Given the description of an element on the screen output the (x, y) to click on. 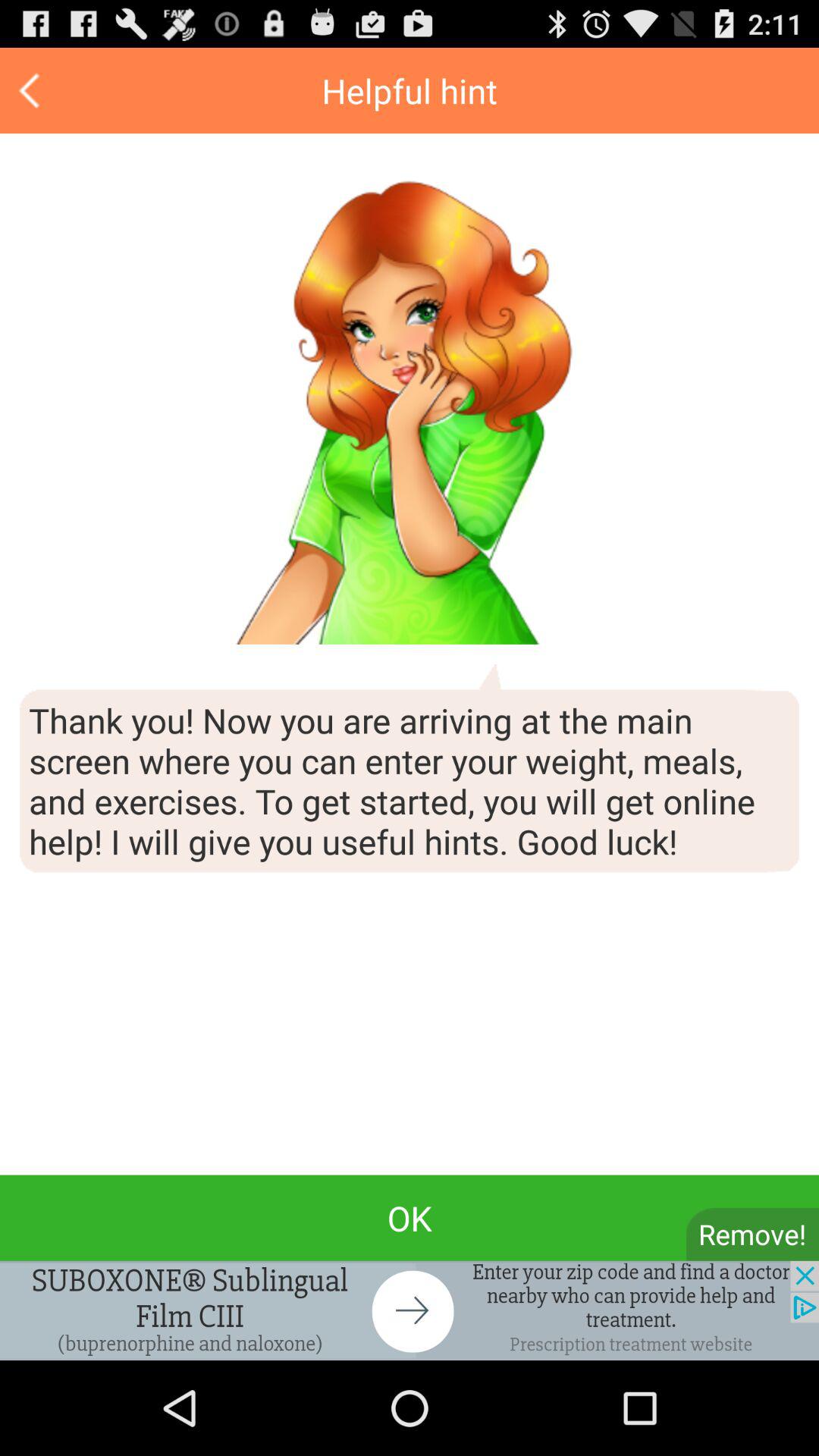
previous button (31, 90)
